Given the description of an element on the screen output the (x, y) to click on. 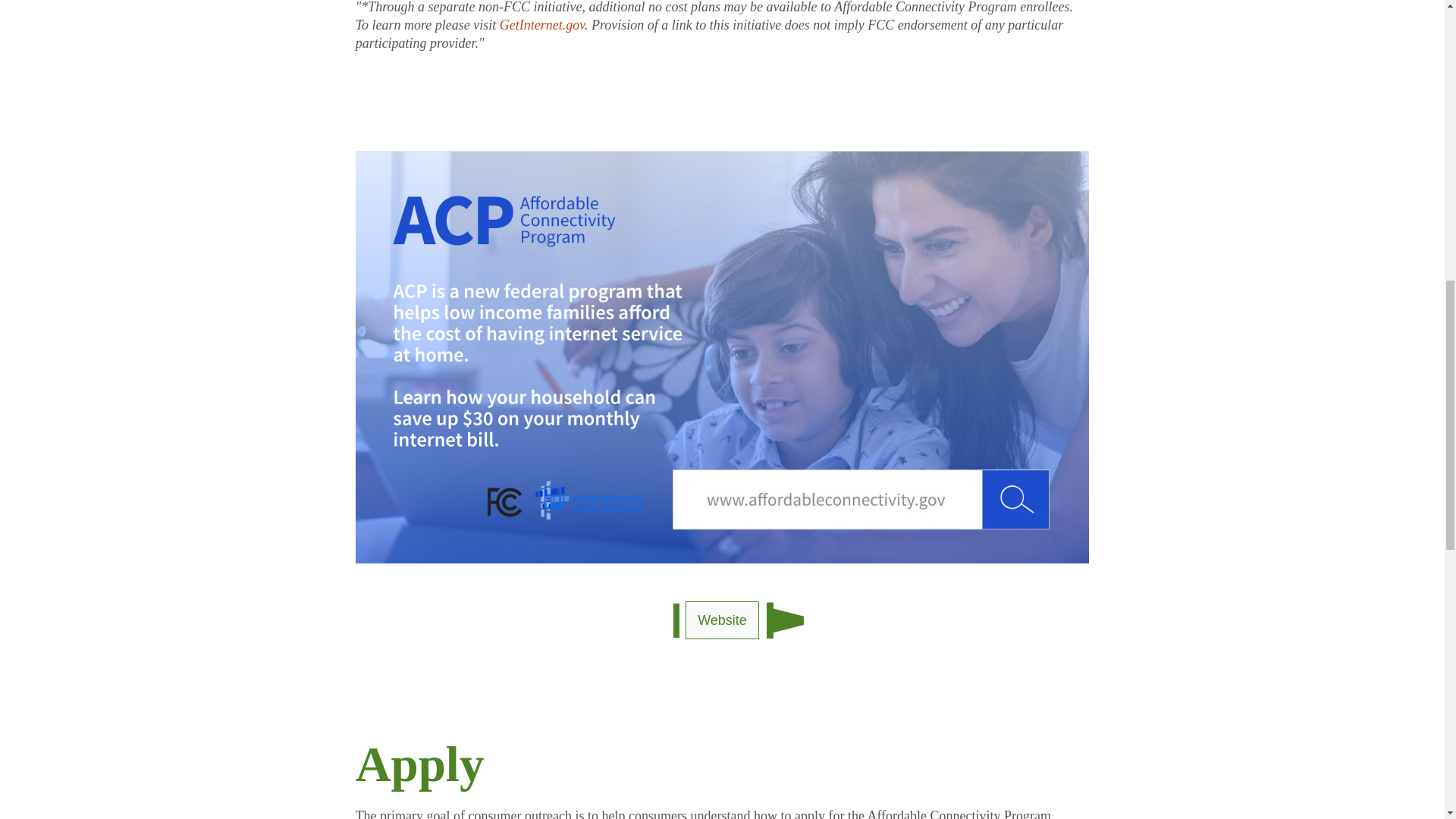
GetInternet.gov (542, 24)
